Given the description of an element on the screen output the (x, y) to click on. 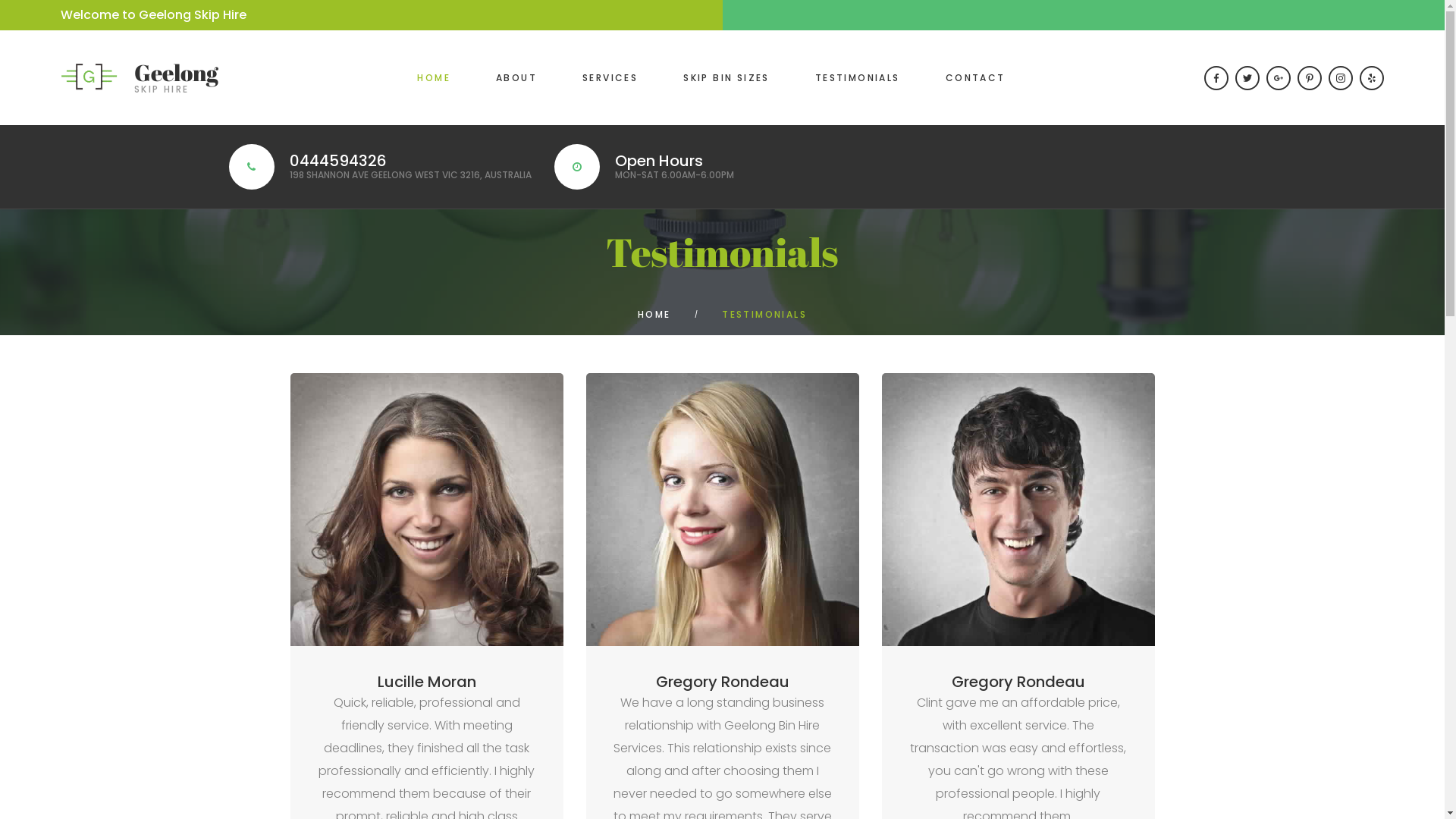
SKIP BIN SIZES Element type: text (726, 77)
Gregory Rondeau Element type: text (721, 681)
SERVICES Element type: text (609, 77)
CONTACT Element type: text (975, 77)
Gregory Rondeau Element type: text (1017, 681)
Geelong
SKIP HIRE Element type: text (139, 77)
Lucille Moran Element type: text (426, 681)
ABOUT Element type: text (515, 77)
0444594326 Element type: text (337, 160)
HOME Element type: text (433, 77)
HOME Element type: text (654, 313)
TESTIMONIALS Element type: text (857, 77)
